Given the description of an element on the screen output the (x, y) to click on. 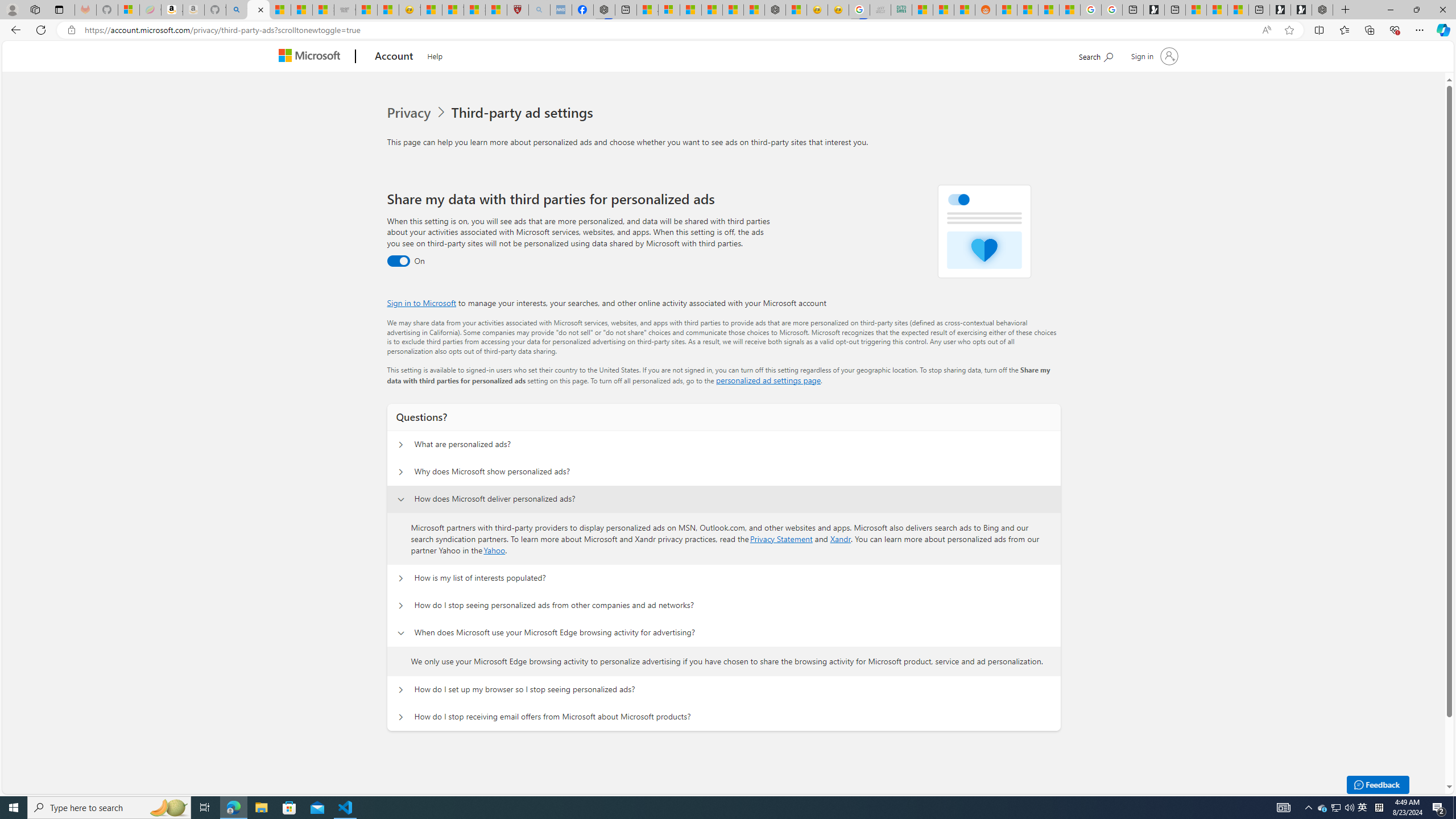
These 3 Stocks Pay You More Than 5% to Own Them (1238, 9)
Questions? How is my list of interests populated? (401, 578)
Nordace - #1 Japanese Best-Seller - Siena Smart Backpack (775, 9)
Sign in to your account (1153, 55)
Questions? How does Microsoft deliver personalized ads? (400, 499)
